Given the description of an element on the screen output the (x, y) to click on. 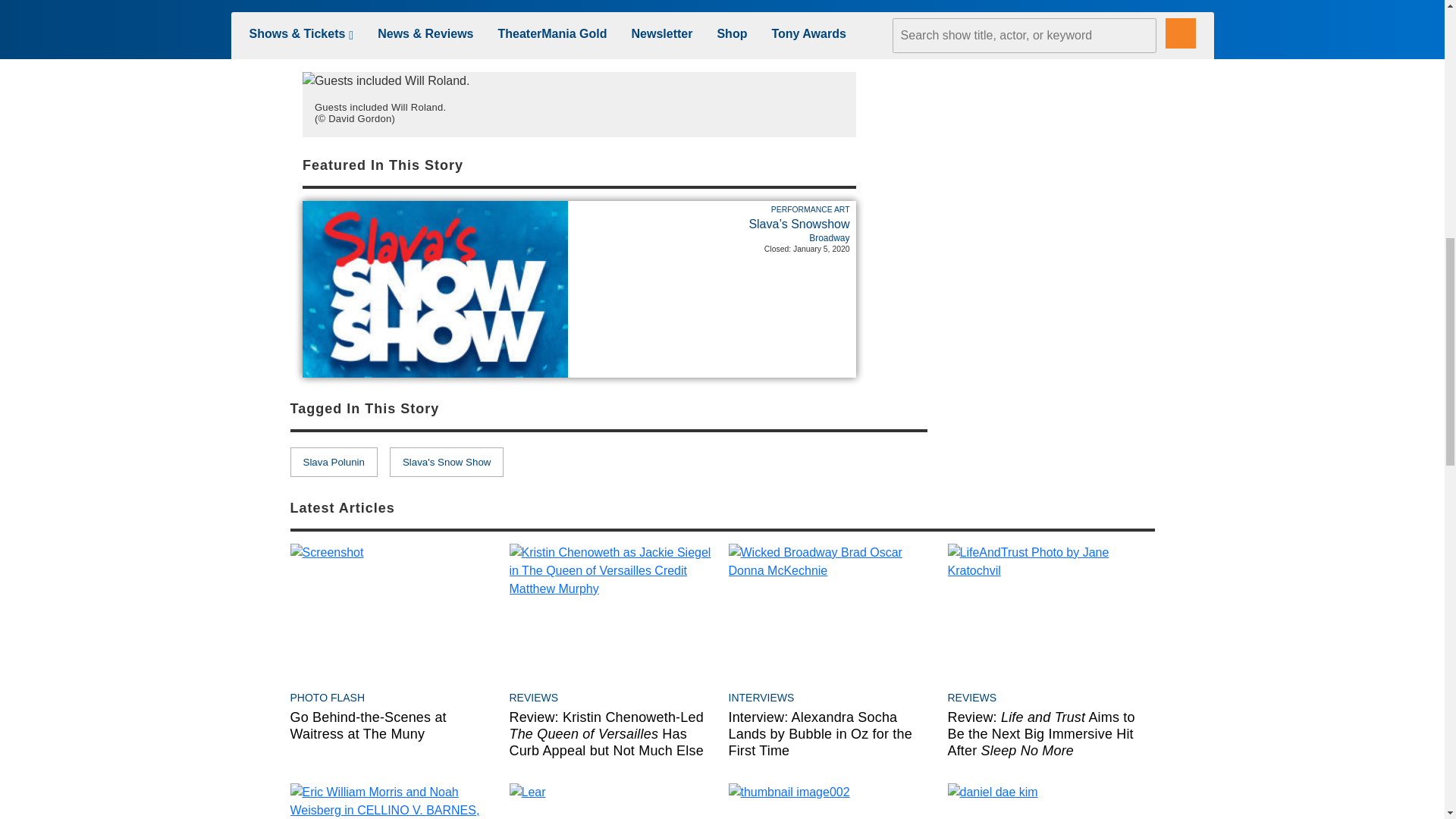
Guests included Will Roland. (386, 81)
